Given the description of an element on the screen output the (x, y) to click on. 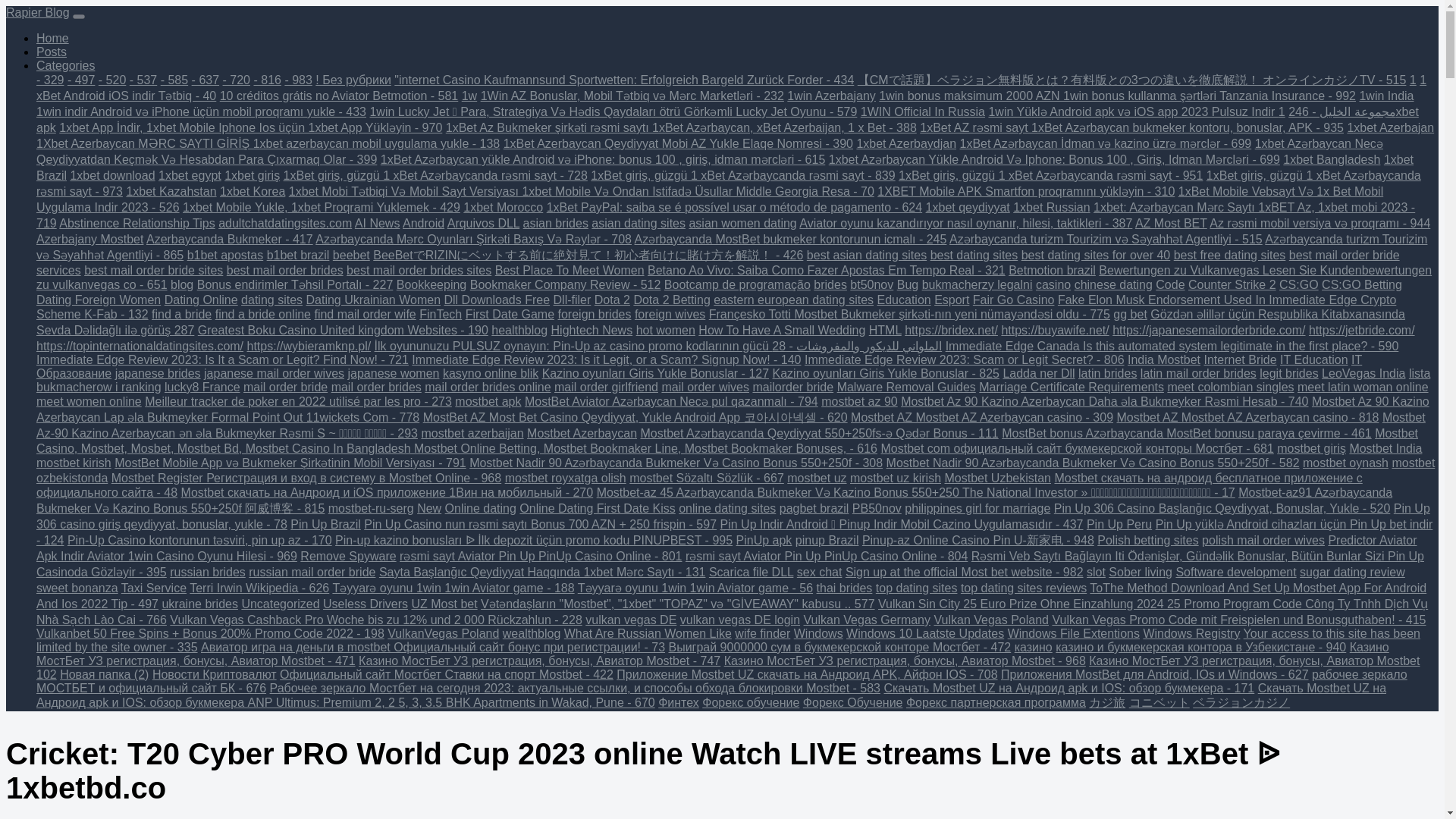
- 637 (205, 79)
- 816 (267, 79)
- 720 (236, 79)
1win Azerbajany (831, 95)
- 585 (173, 79)
1WIN Official In Russia (922, 111)
- 329 (50, 79)
1xBet Azerbaycan Qeydiyyat Mobi AZ Yukle Elaqe Nomresi - 390 (678, 143)
Categories (65, 65)
- 537 (143, 79)
Rapier Blog (37, 11)
1xbet apk (727, 119)
- 983 (297, 79)
1xbet Azerbaydjan (906, 143)
1win India (1385, 95)
